Given the description of an element on the screen output the (x, y) to click on. 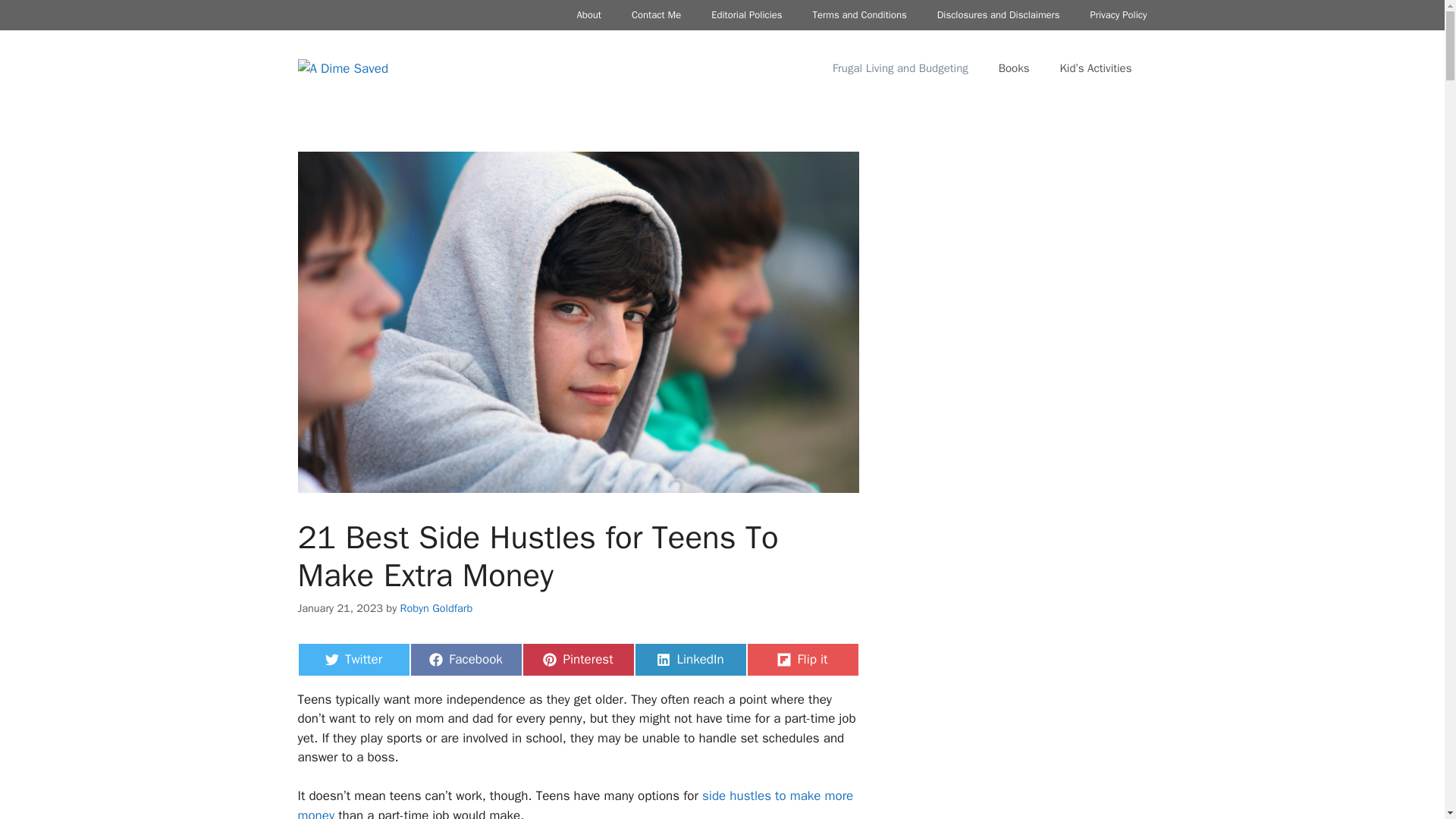
Privacy Policy (465, 659)
Books (1117, 15)
Frugal Living and Budgeting (1014, 67)
About (900, 67)
side hustles to make more money (353, 659)
Disclosures and Disclaimers (588, 15)
View all posts by Robyn Goldfarb (575, 803)
Contact Me (998, 15)
